Given the description of an element on the screen output the (x, y) to click on. 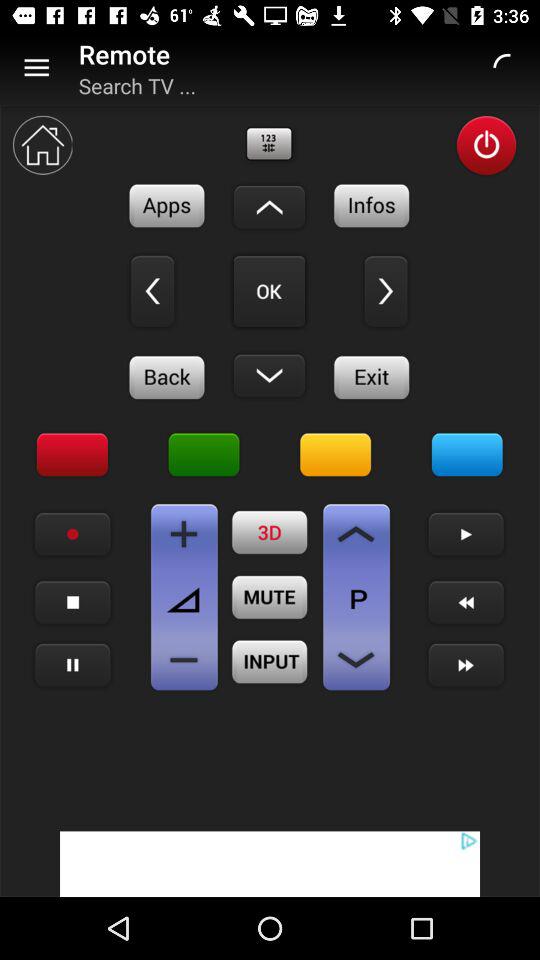
remote record button (72, 534)
